Given the description of an element on the screen output the (x, y) to click on. 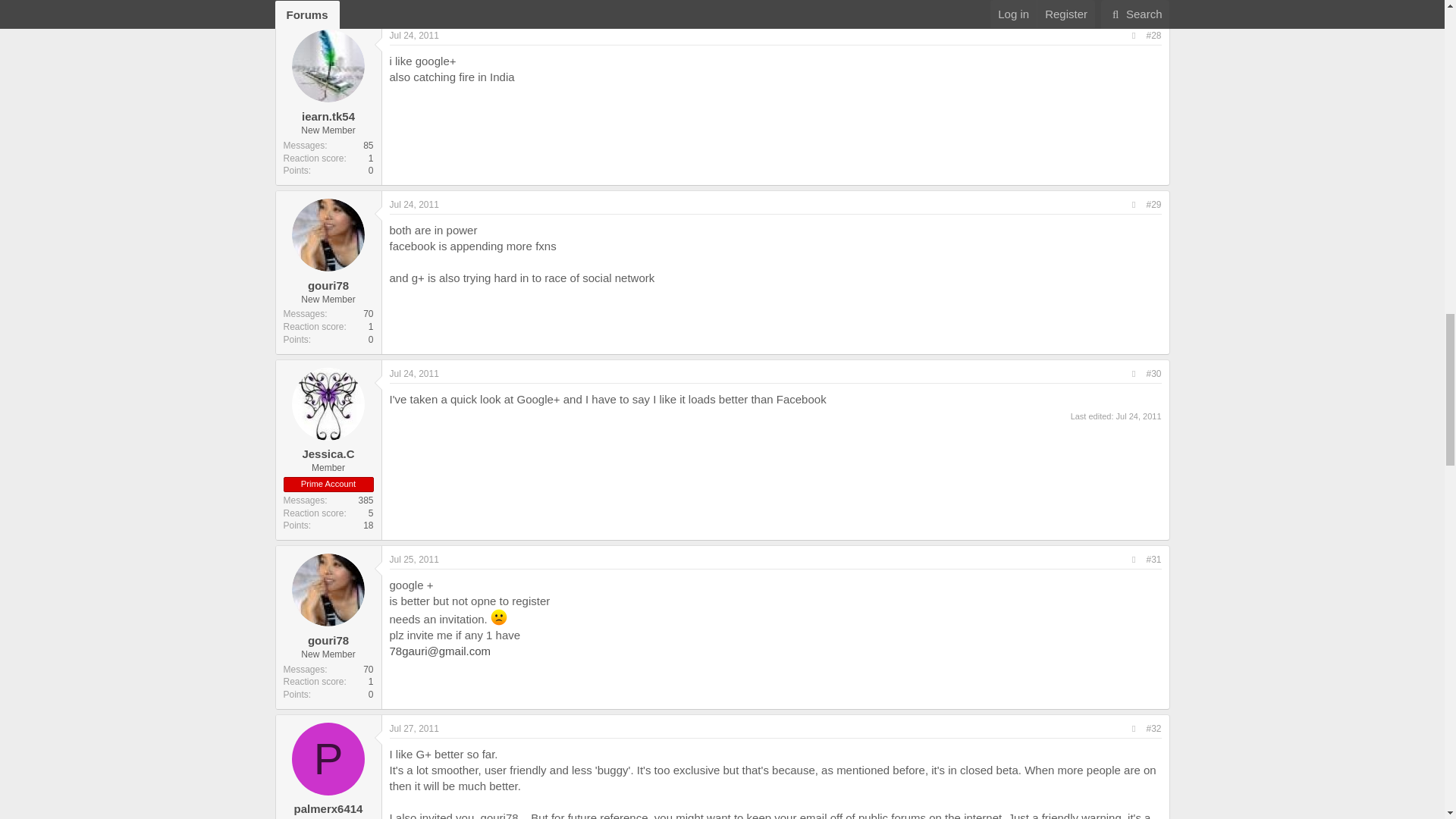
Jul 24, 2011 at 9:13 PM (414, 373)
Jul 24, 2011 at 6:02 PM (414, 204)
Jul 24, 2011 at 7:33 AM (414, 35)
Jul 24, 2011 at 9:14 PM (1138, 415)
Jul 25, 2011 at 6:05 AM (414, 559)
